Given the description of an element on the screen output the (x, y) to click on. 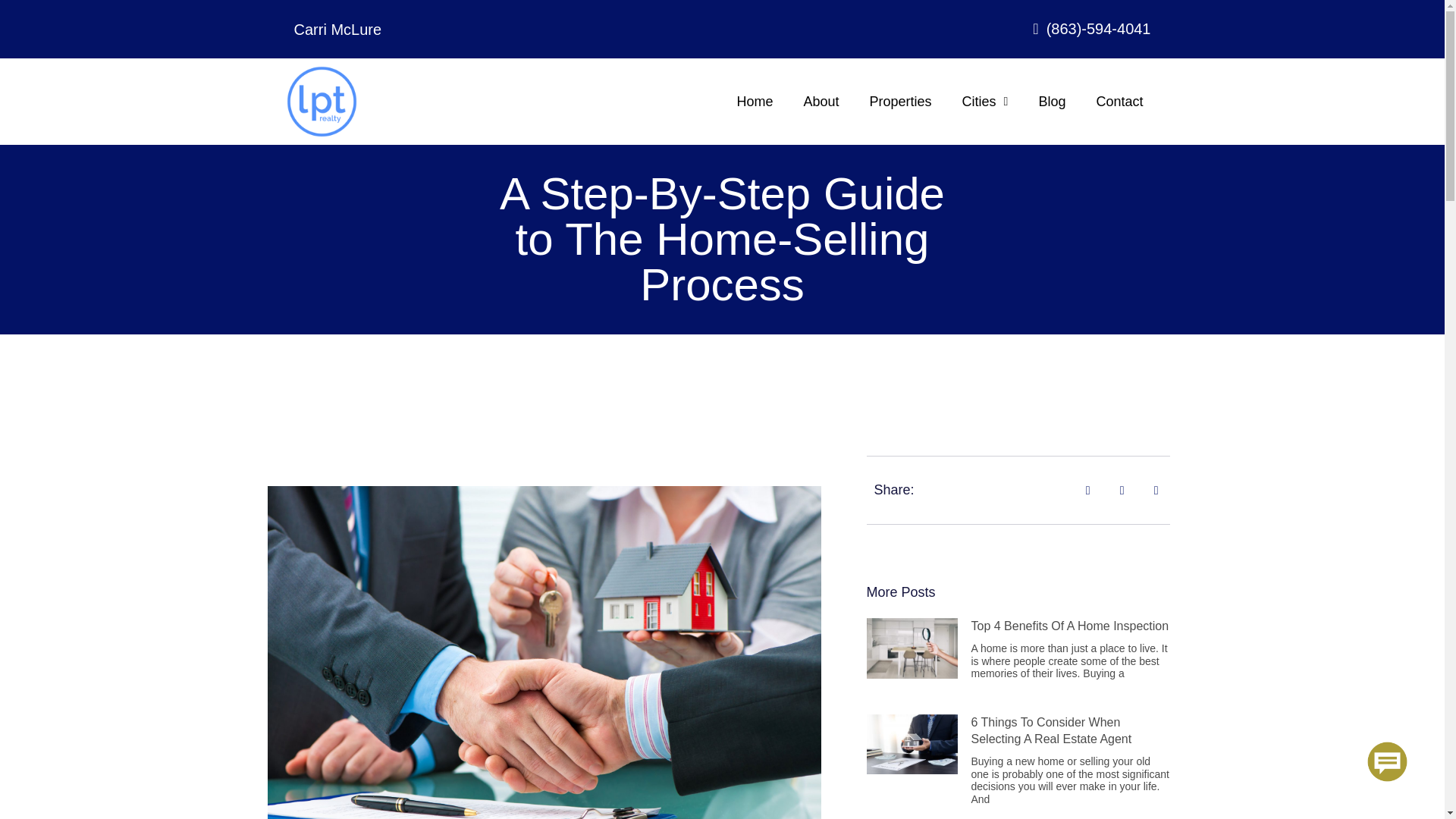
Contact (1118, 101)
Cities (985, 101)
6 Things To Consider When Selecting A Real Estate Agent (1051, 730)
About (820, 101)
Top 4 Benefits Of A Home Inspection (1070, 625)
Home (753, 101)
Blog (1051, 101)
Properties (900, 101)
